Given the description of an element on the screen output the (x, y) to click on. 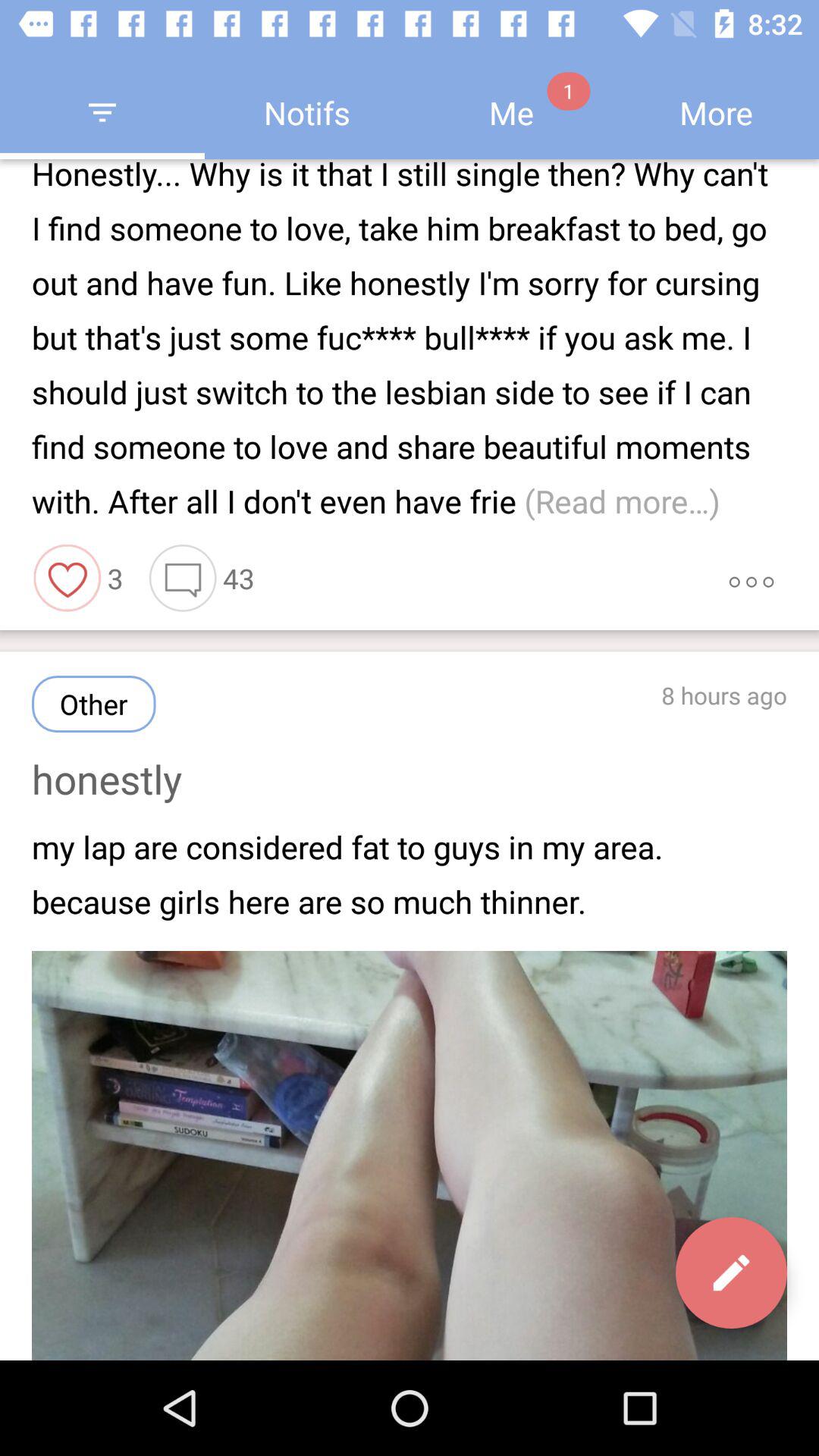
click the item above other item (182, 578)
